Given the description of an element on the screen output the (x, y) to click on. 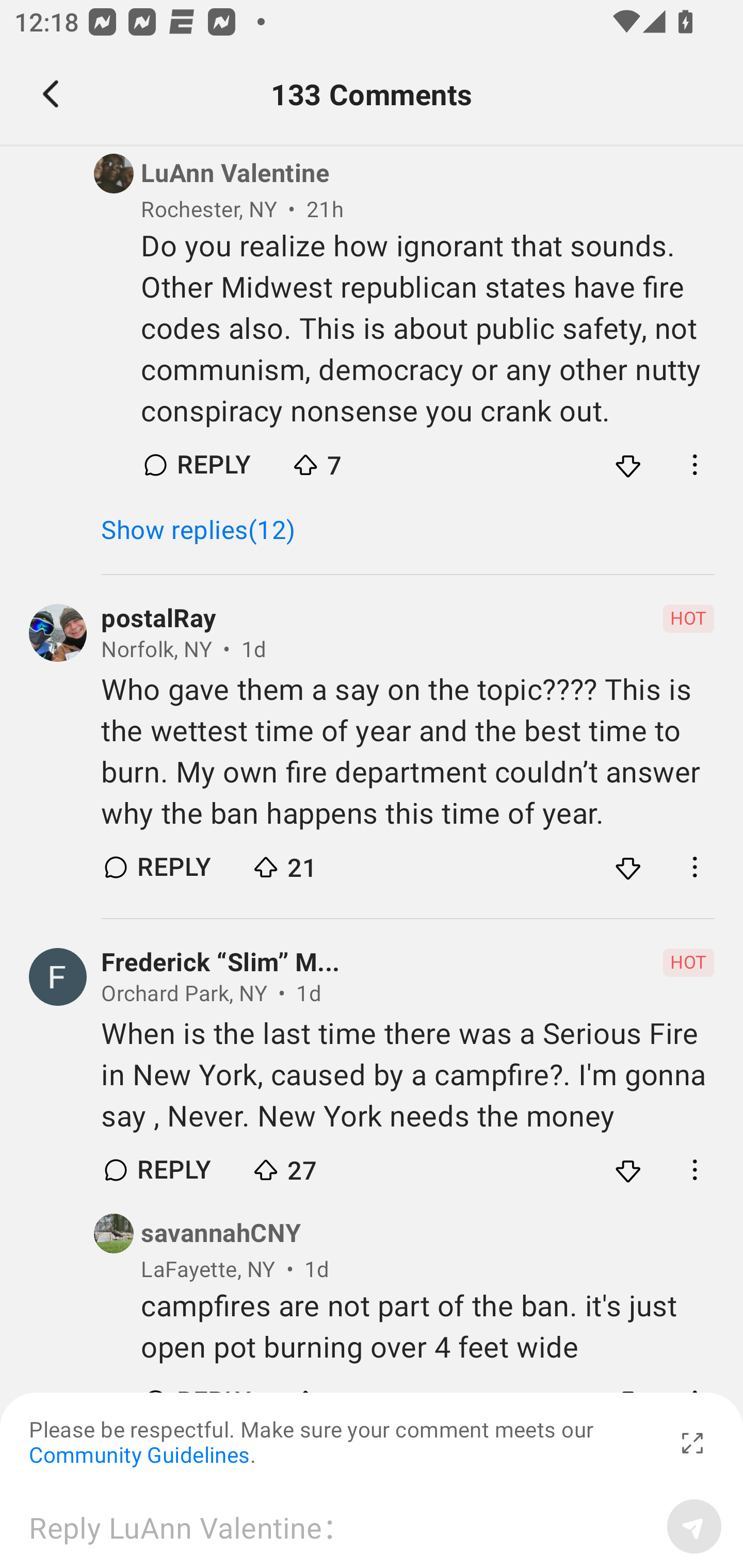
Reply LuAnn Valentine： (340, 1526)
